Given the description of an element on the screen output the (x, y) to click on. 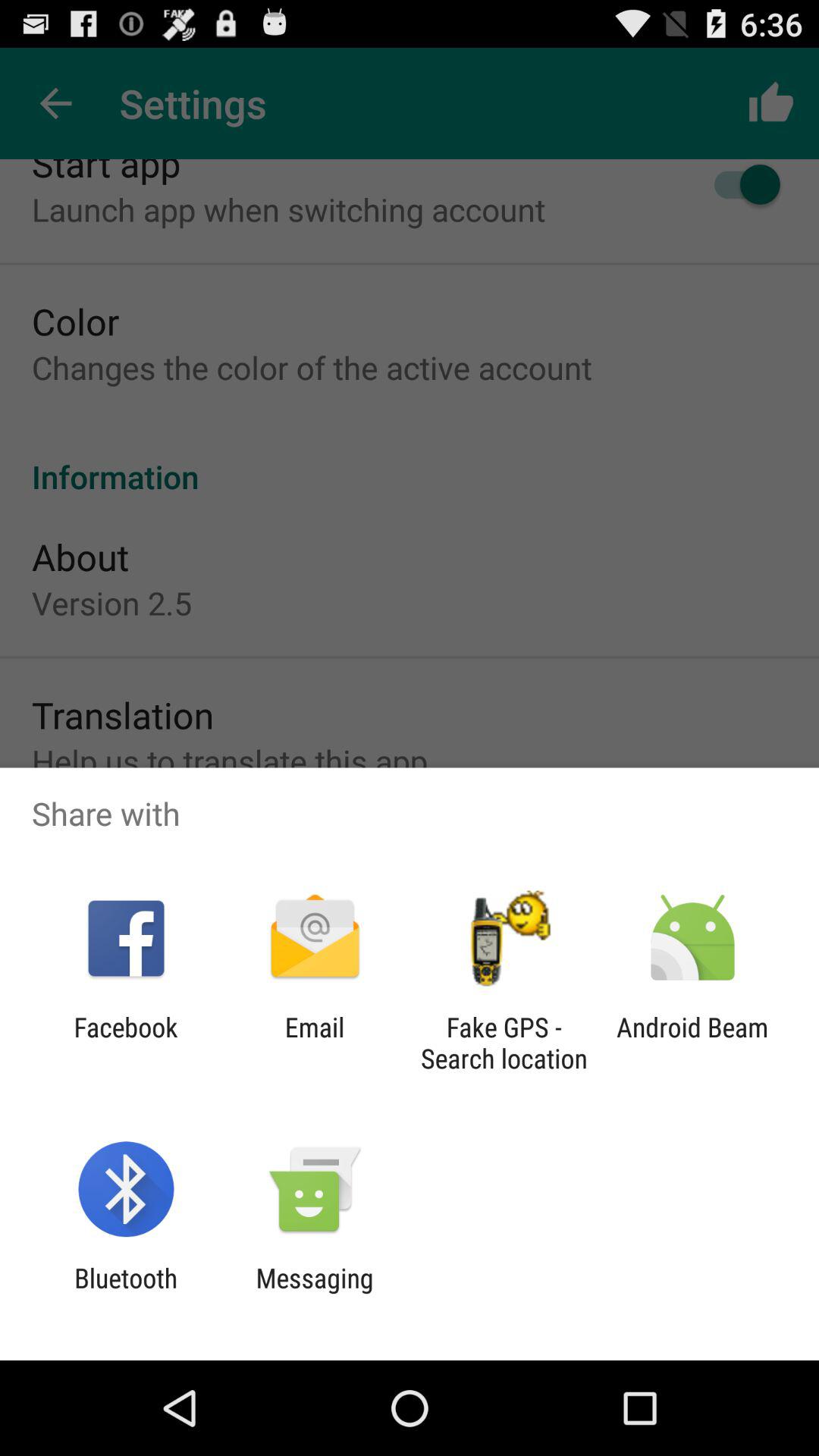
open the android beam icon (692, 1042)
